Given the description of an element on the screen output the (x, y) to click on. 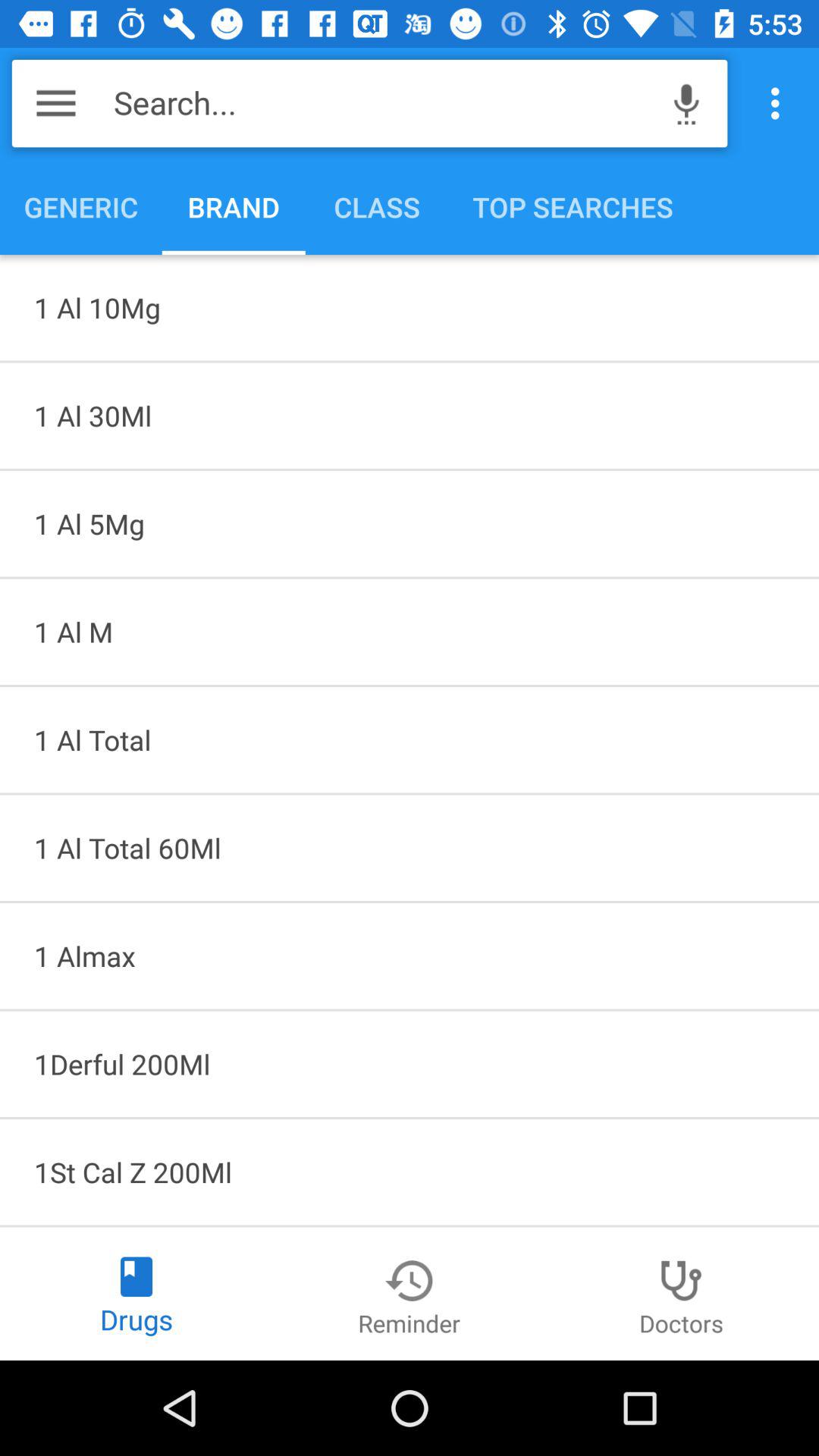
choose the item above 1derful 200ml icon (409, 955)
